Given the description of an element on the screen output the (x, y) to click on. 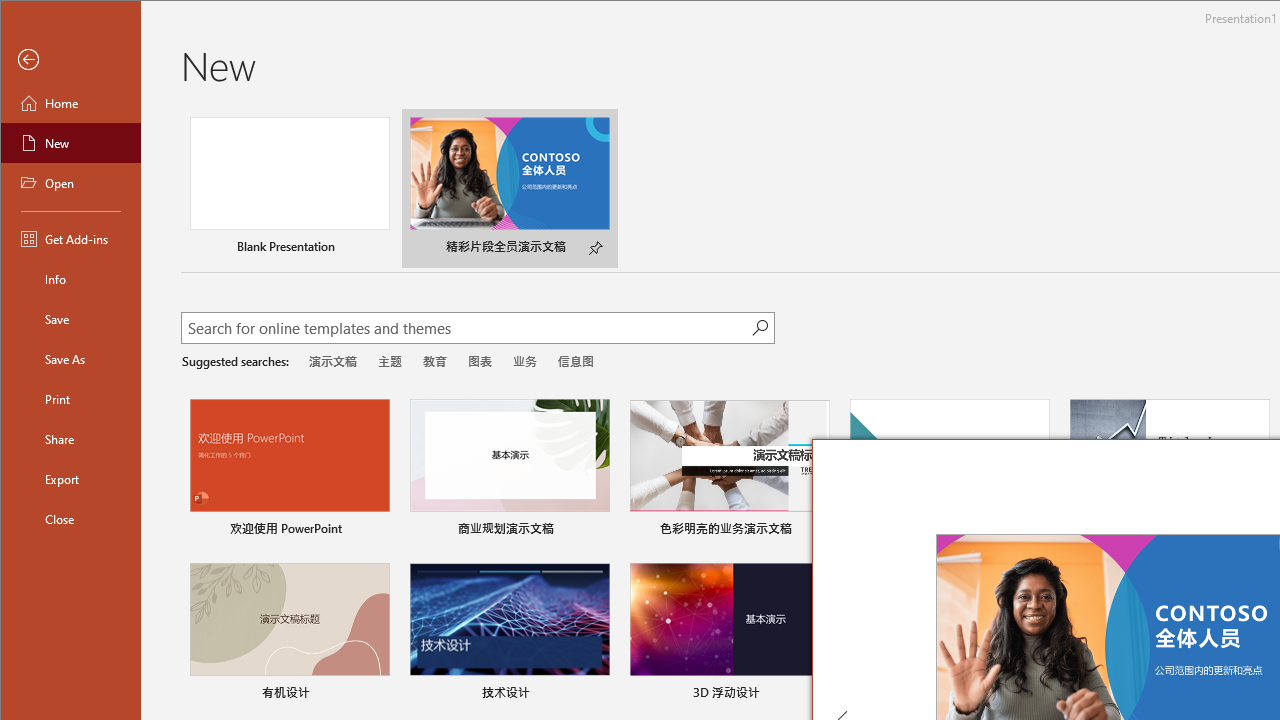
Save As (70, 358)
Info (70, 278)
Pin to list (596, 695)
Get Add-ins (70, 238)
Back (70, 60)
Start searching (760, 327)
Blank Presentation (289, 187)
